Given the description of an element on the screen output the (x, y) to click on. 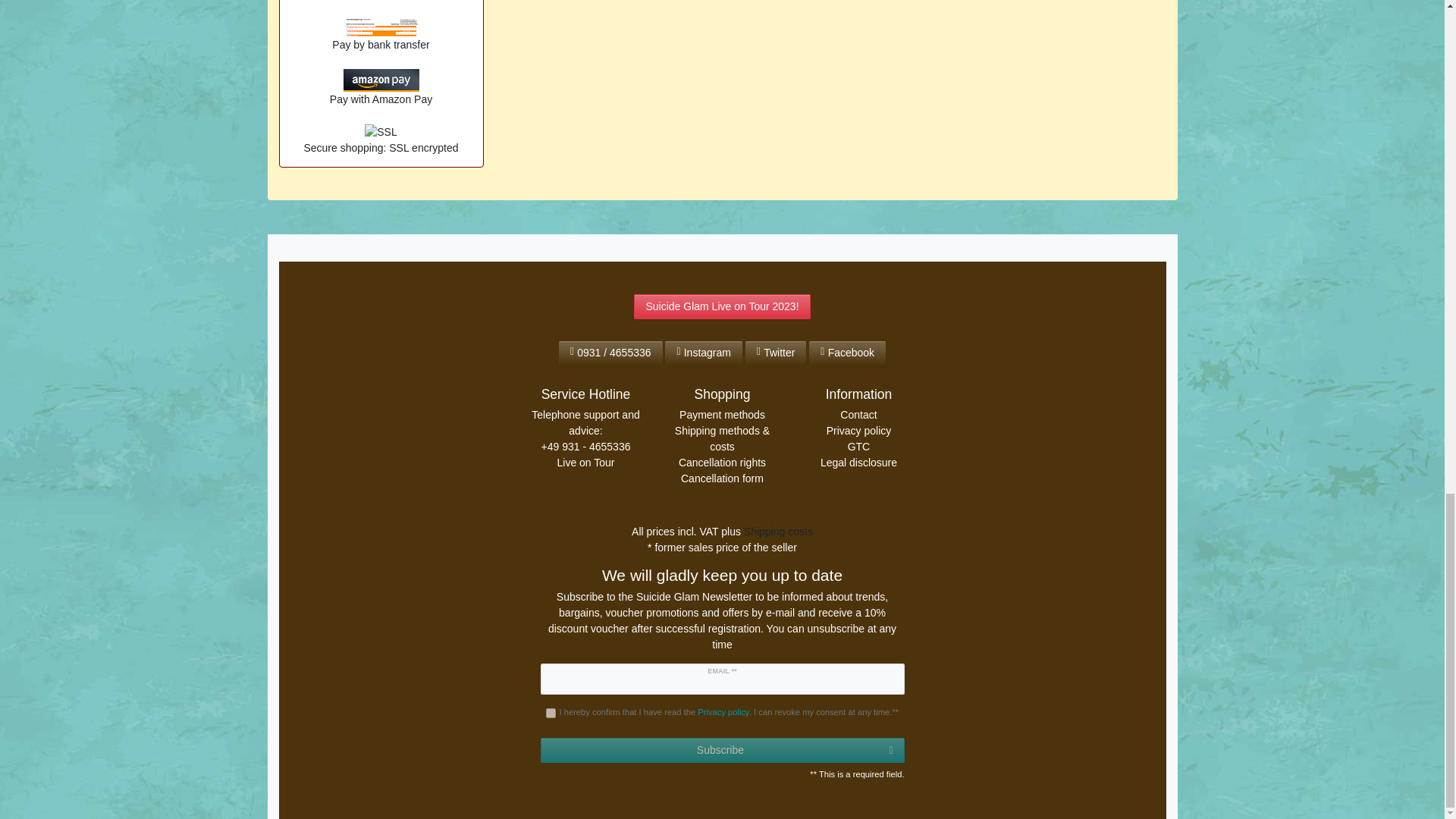
on (551, 713)
Suicide Glam Live on Tour 2023! (721, 307)
